Given the description of an element on the screen output the (x, y) to click on. 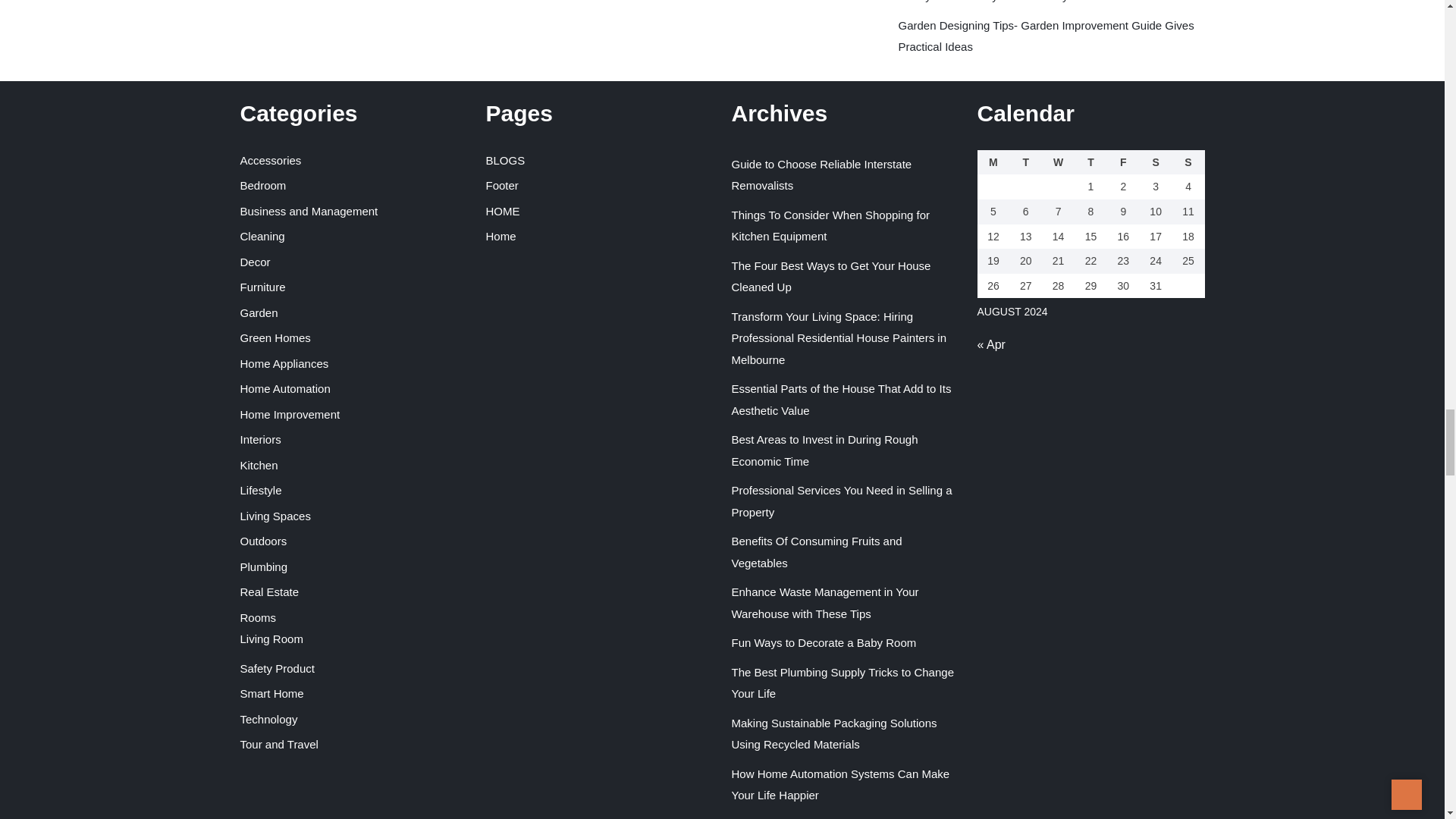
Wednesday (1058, 162)
Friday (1123, 162)
Tuesday (1025, 162)
Saturday (1156, 162)
Monday (992, 162)
Sunday (1188, 162)
Thursday (1090, 162)
